Given the description of an element on the screen output the (x, y) to click on. 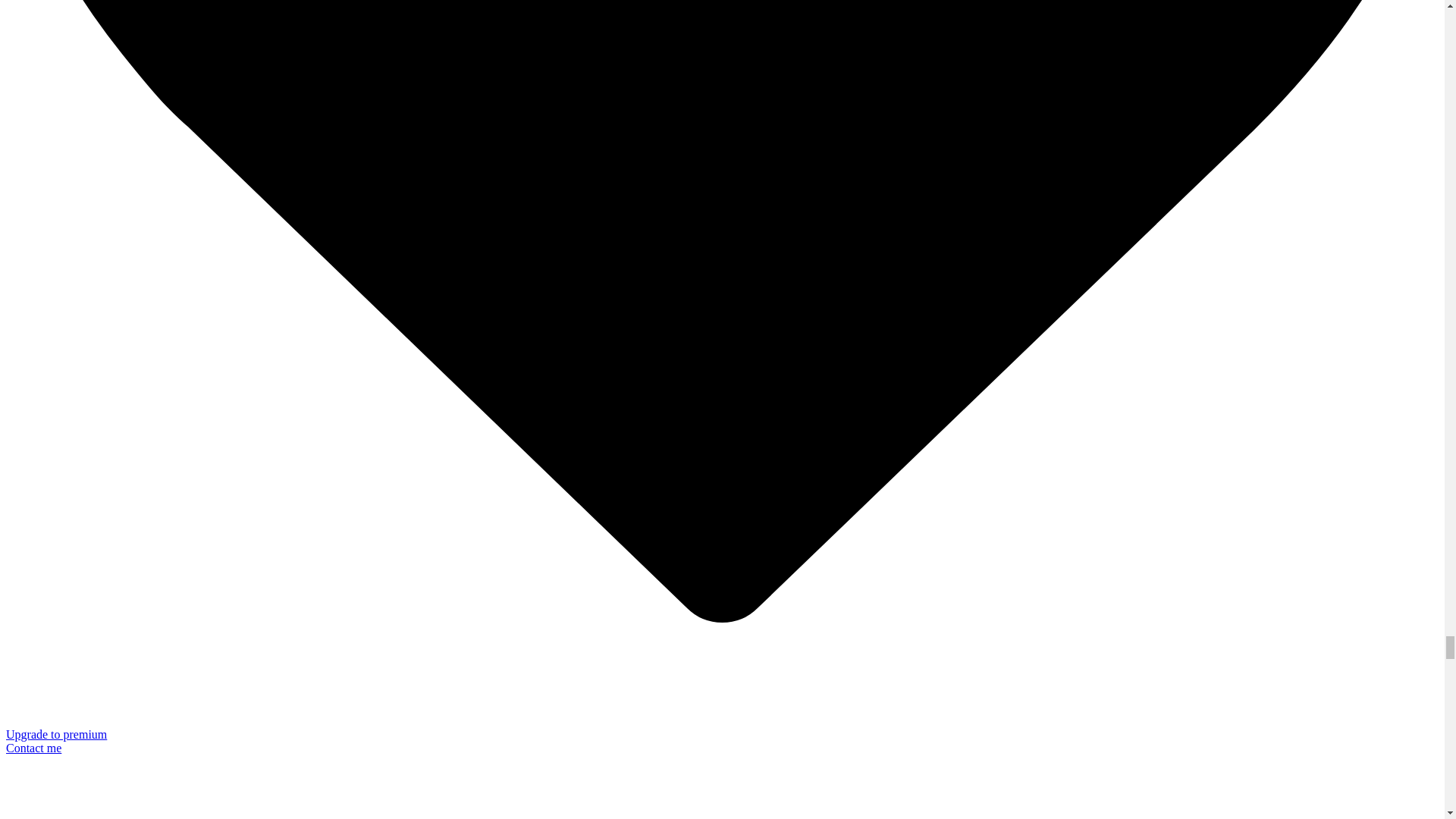
Upgrade to premium (55, 734)
